Given the description of an element on the screen output the (x, y) to click on. 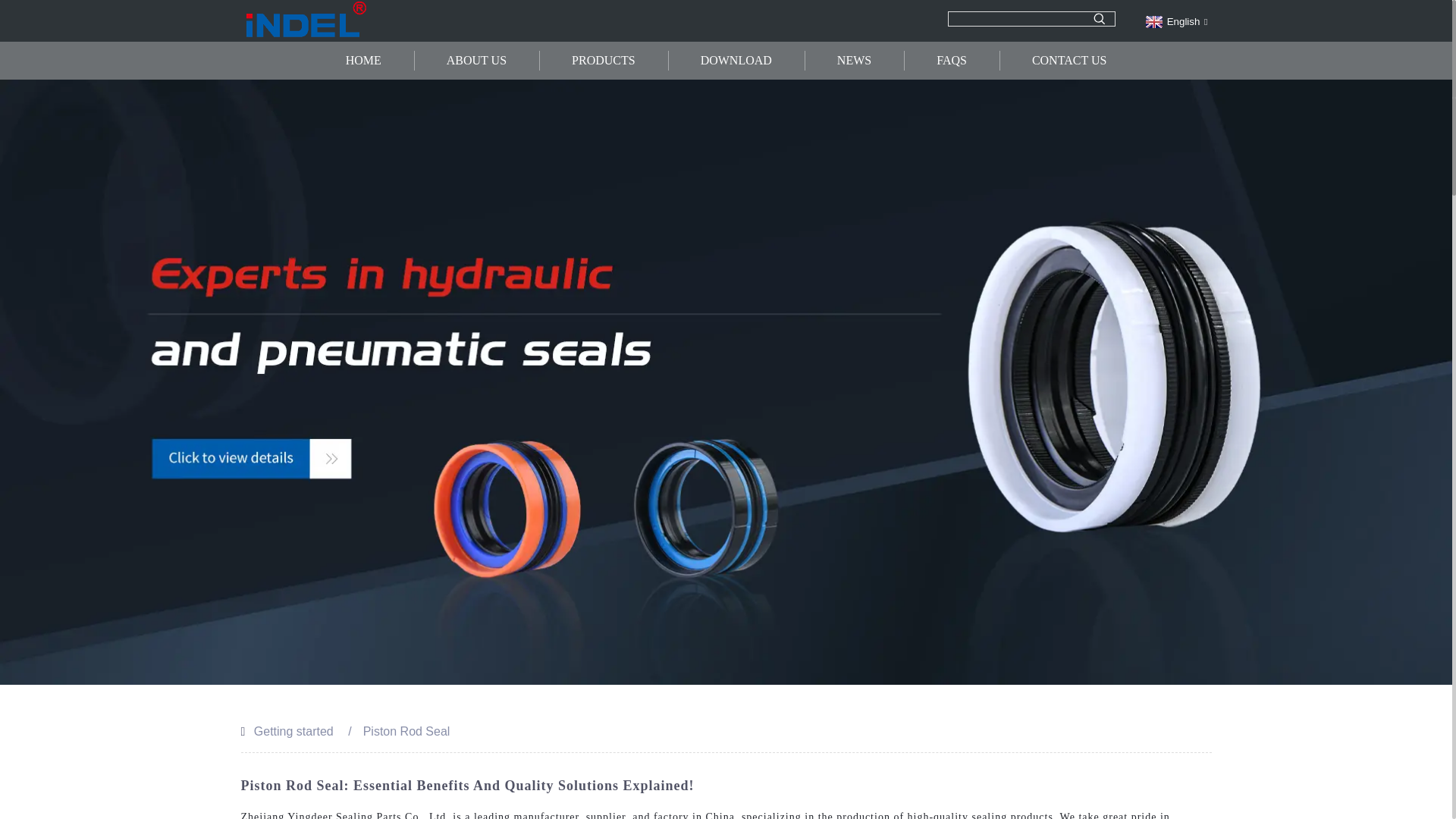
HOME (362, 60)
PRODUCTS (603, 60)
CONTACT US (1069, 60)
ABOUT US (476, 60)
DOWNLOAD (735, 60)
English (1174, 21)
Piston Rod Seal (405, 730)
FAQS (951, 60)
Getting started (293, 730)
NEWS (854, 60)
